Given the description of an element on the screen output the (x, y) to click on. 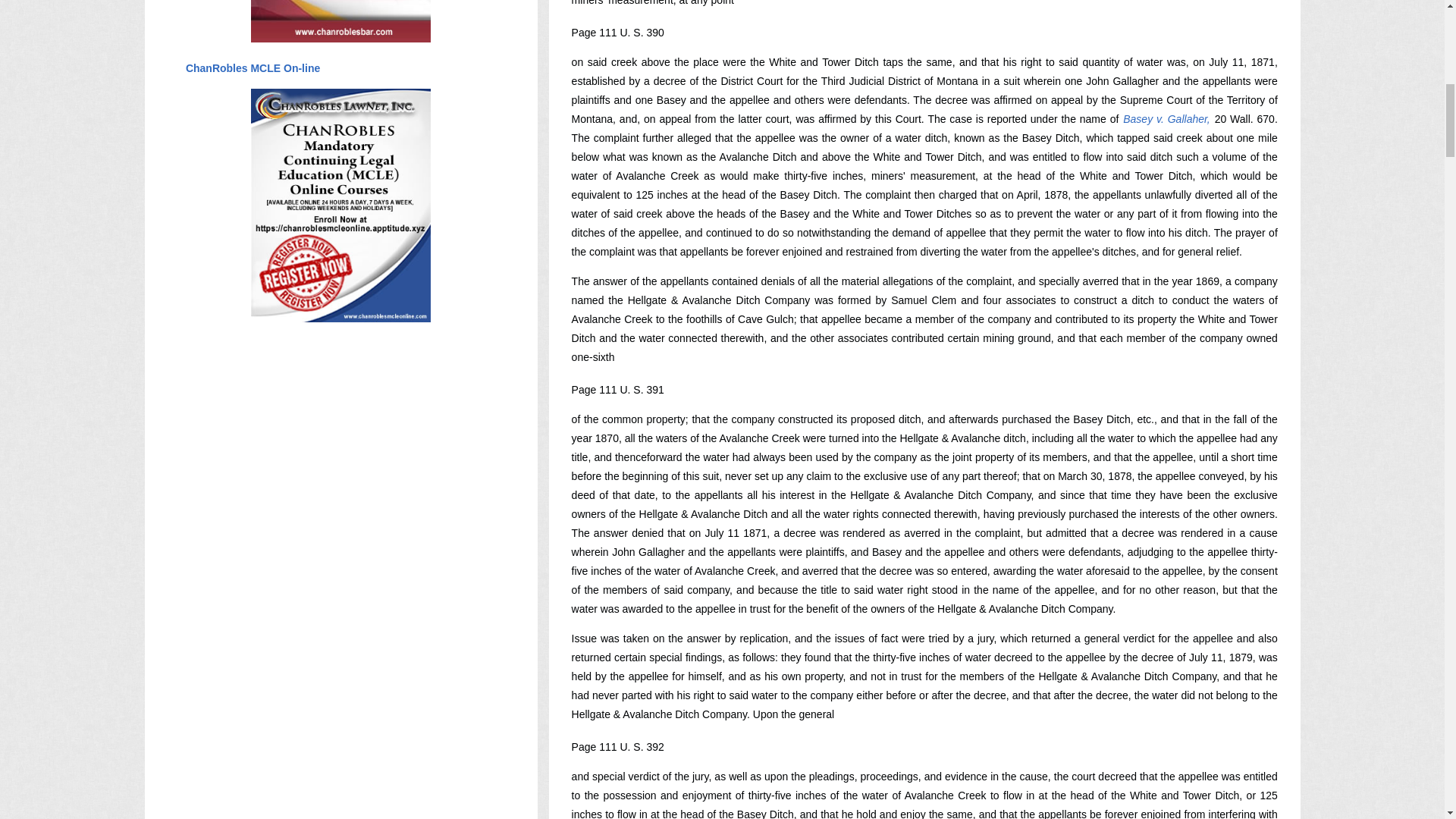
Page 111 U. S. 392 (617, 746)
Page 111 U. S. 390 (617, 32)
ChanRobles MCLE On-line (252, 68)
Page 111 U. S. 391 (617, 389)
